Given the description of an element on the screen output the (x, y) to click on. 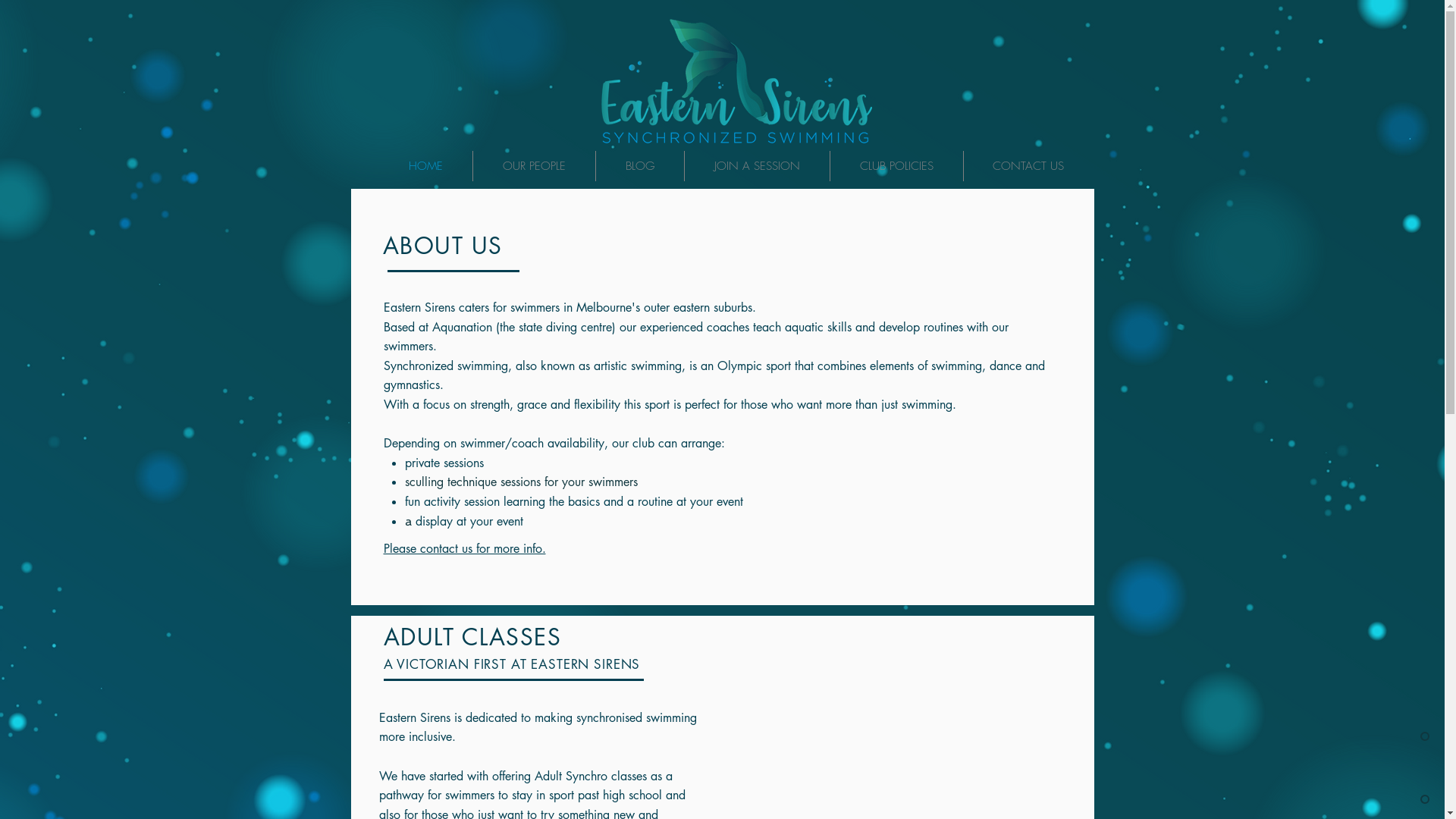
BLOG Element type: text (640, 165)
HOME Element type: text (425, 165)
Please contact us for more info. Element type: text (464, 548)
CLUB POLICIES Element type: text (895, 165)
JOIN A SESSION Element type: text (756, 165)
CONTACT US Element type: text (1027, 165)
OUR PEOPLE Element type: text (534, 165)
